Given the description of an element on the screen output the (x, y) to click on. 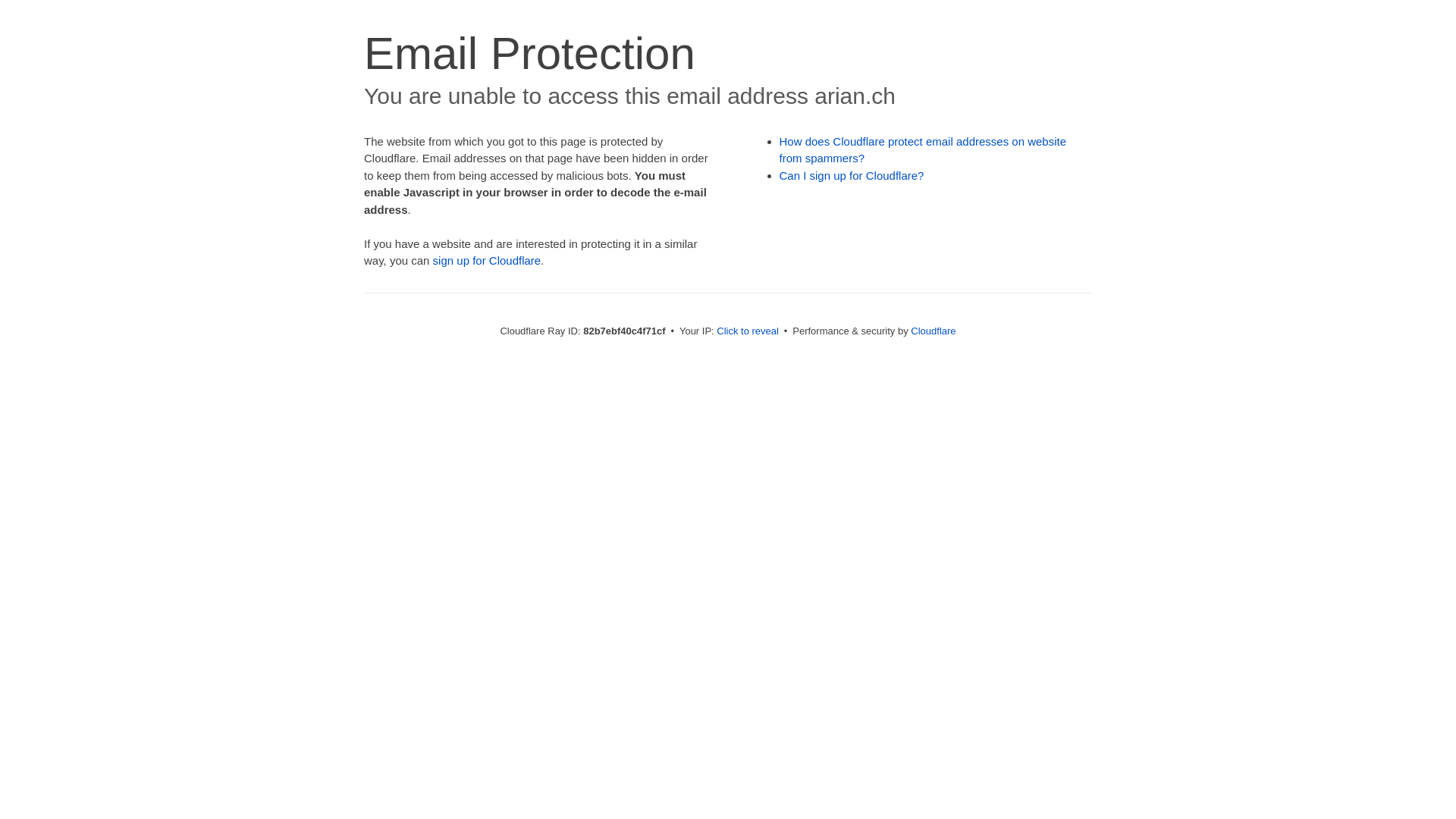
Click to reveal Element type: text (747, 330)
sign up for Cloudflare Element type: text (487, 260)
Can I sign up for Cloudflare? Element type: text (851, 175)
Cloudflare Element type: text (932, 330)
